Given the description of an element on the screen output the (x, y) to click on. 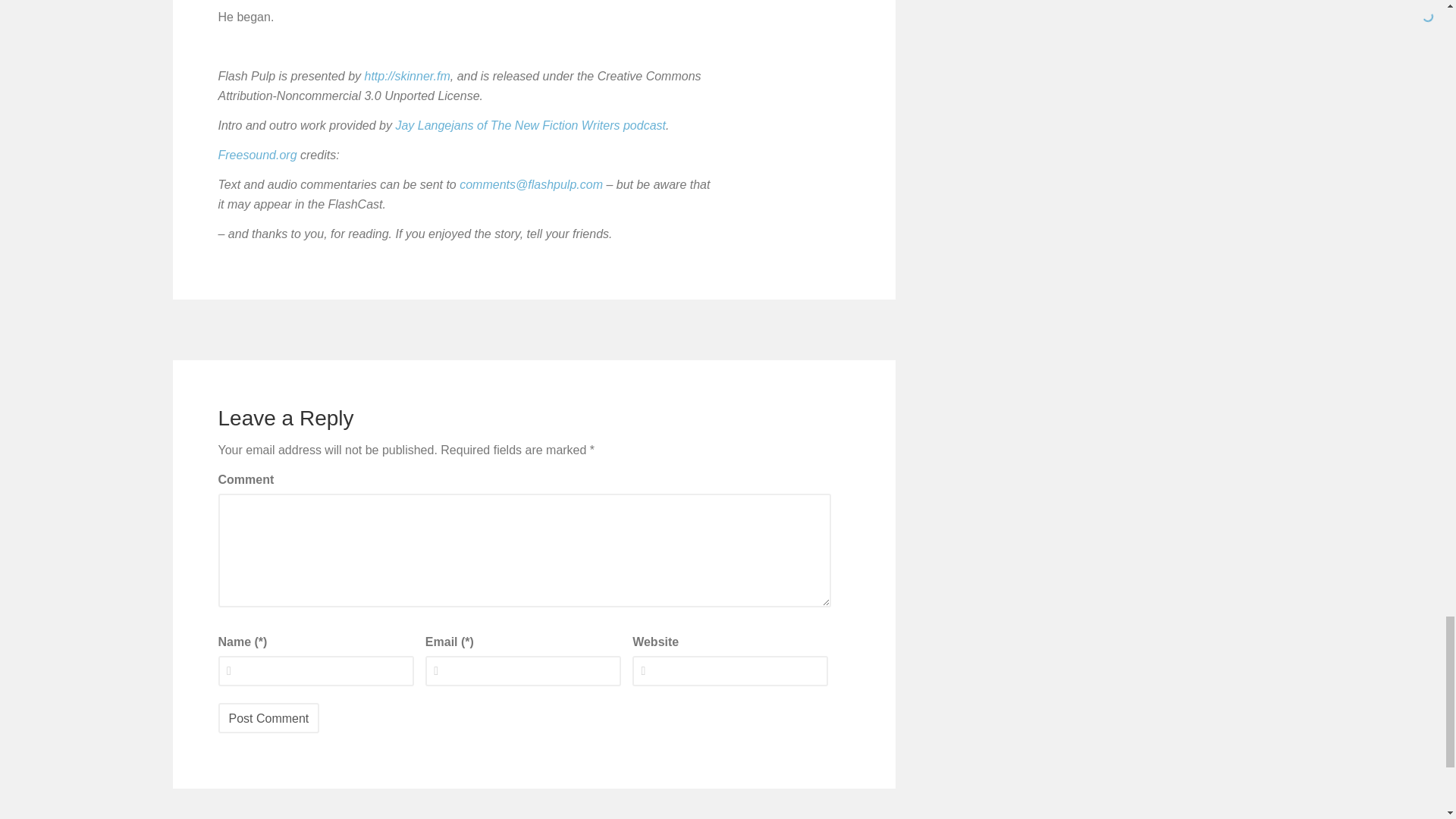
Jay Langejans of The New Fiction Writers podcast (529, 124)
Post Comment (269, 717)
Post Comment (269, 717)
Freesound.org (257, 154)
